Given the description of an element on the screen output the (x, y) to click on. 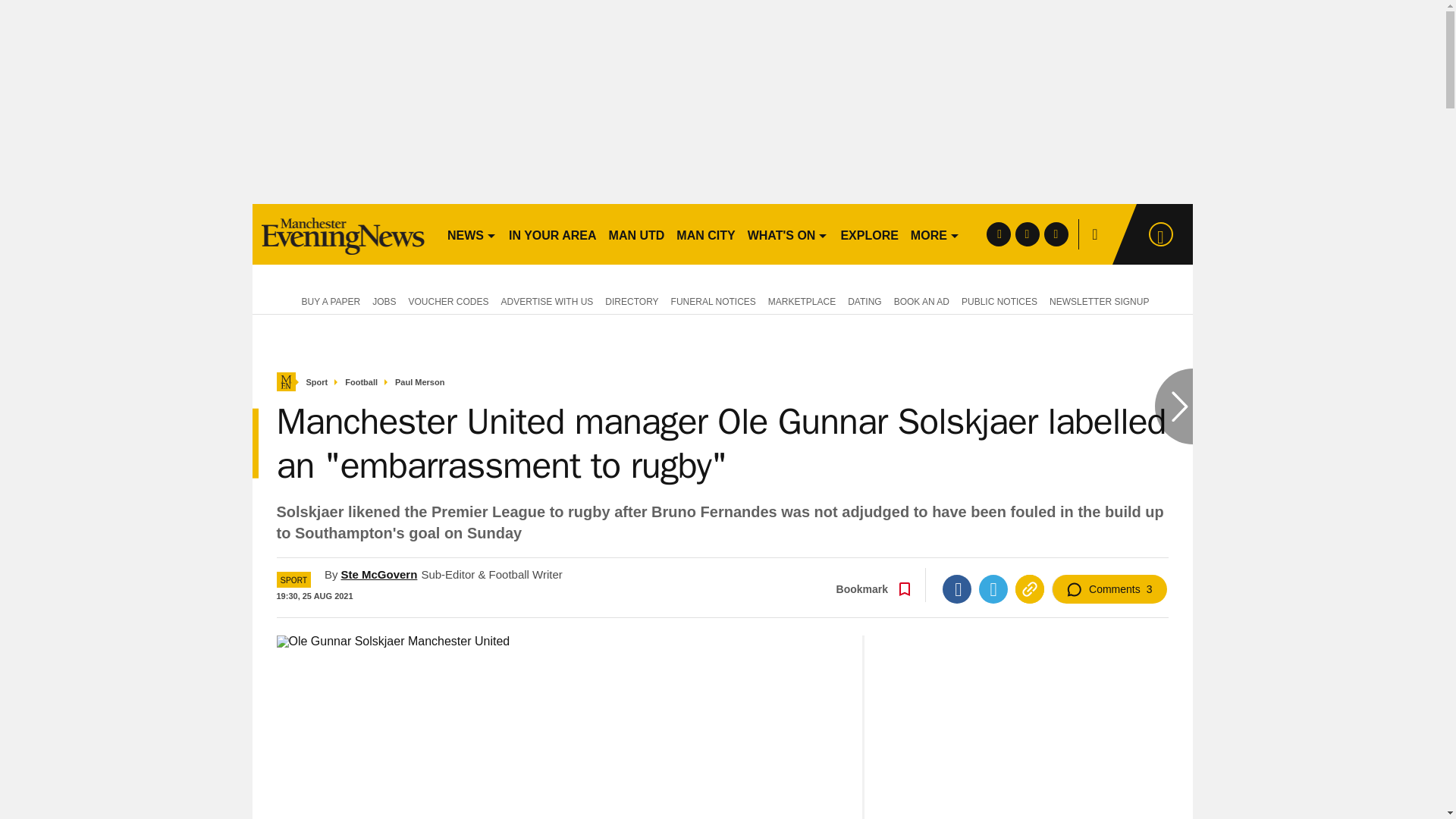
WHAT'S ON (787, 233)
men (342, 233)
twitter (1026, 233)
MAN UTD (636, 233)
NEWS (471, 233)
instagram (1055, 233)
IN YOUR AREA (552, 233)
MAN CITY (705, 233)
facebook (997, 233)
Comments (1108, 588)
